Given the description of an element on the screen output the (x, y) to click on. 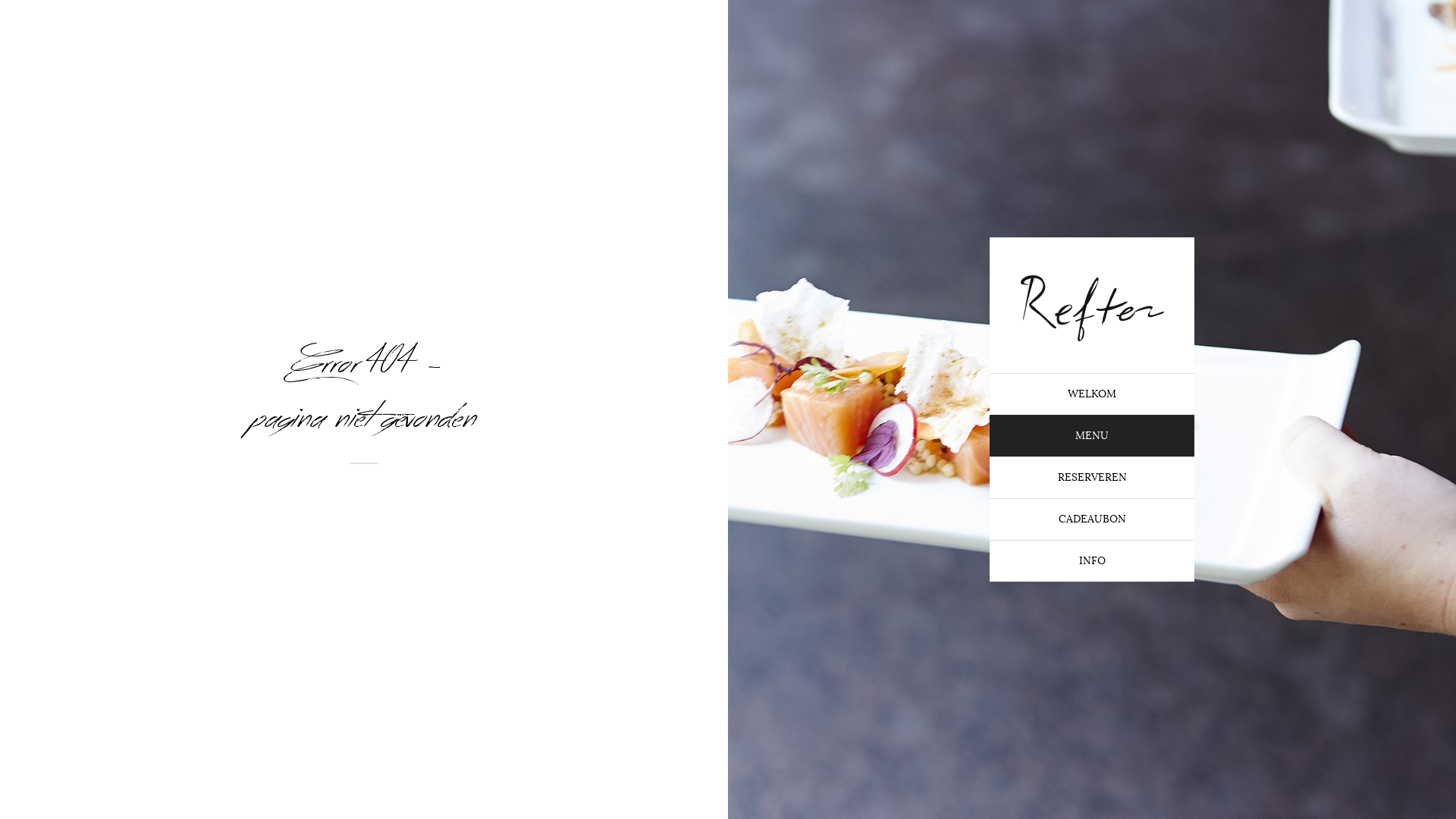
MENU Element type: text (1091, 435)
WELKOM Element type: text (1091, 393)
RESERVEREN Element type: text (1091, 477)
INFO Element type: text (1091, 560)
CADEAUBON Element type: text (1091, 518)
